Given the description of an element on the screen output the (x, y) to click on. 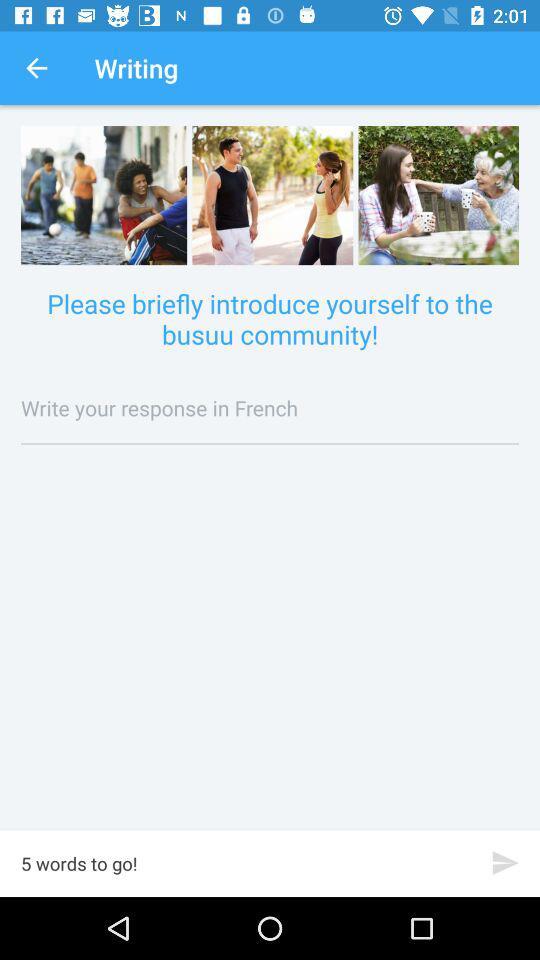
go forward (505, 862)
